Given the description of an element on the screen output the (x, y) to click on. 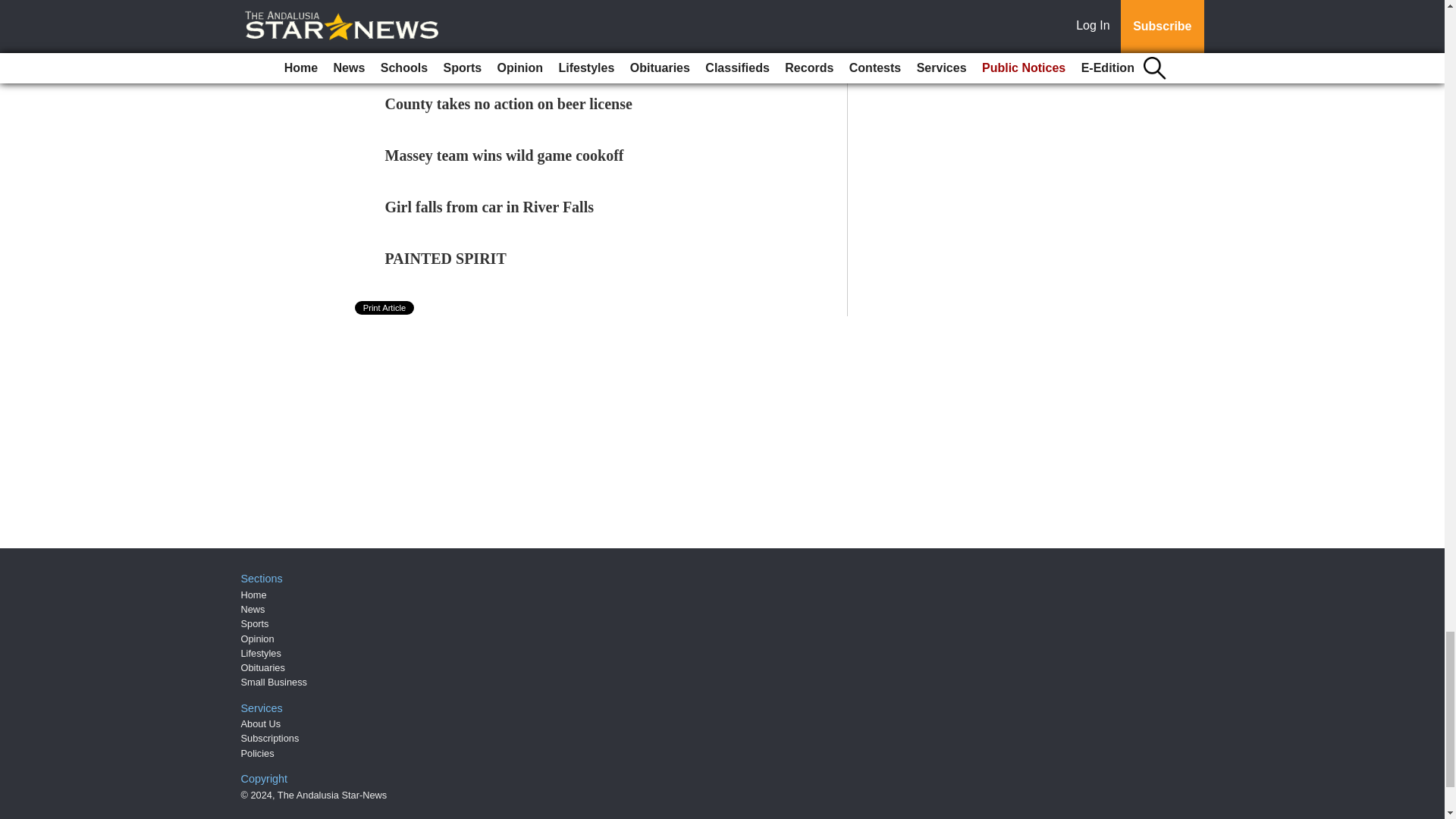
Massey team wins wild game cookoff (504, 155)
Lifestyles (261, 653)
County takes no action on beer license (508, 103)
Obituaries (263, 667)
Print Article (384, 307)
Opinion (258, 638)
News (252, 609)
Girl falls from car in River Falls (489, 207)
Home (253, 594)
Girl falls from car in River Falls (489, 207)
Sports (255, 623)
County takes no action on beer license (508, 103)
Massey team wins wild game cookoff (504, 155)
